Given the description of an element on the screen output the (x, y) to click on. 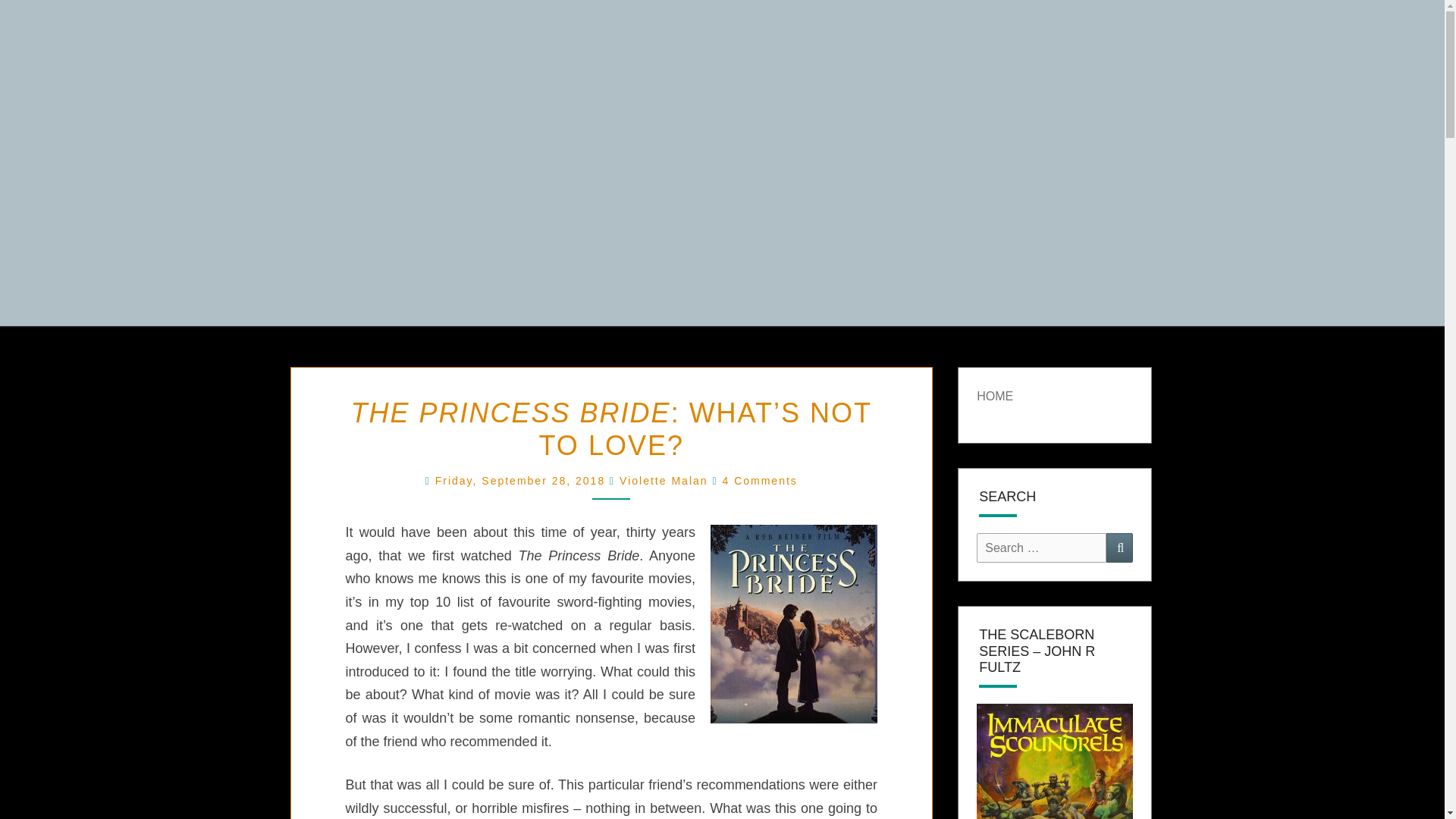
6:42 am (522, 480)
4 Comments (759, 480)
Friday, September 28, 2018 (522, 480)
View all posts by Violette Malan (663, 480)
Violette Malan (663, 480)
Search (1119, 547)
HOME (994, 395)
